Given the description of an element on the screen output the (x, y) to click on. 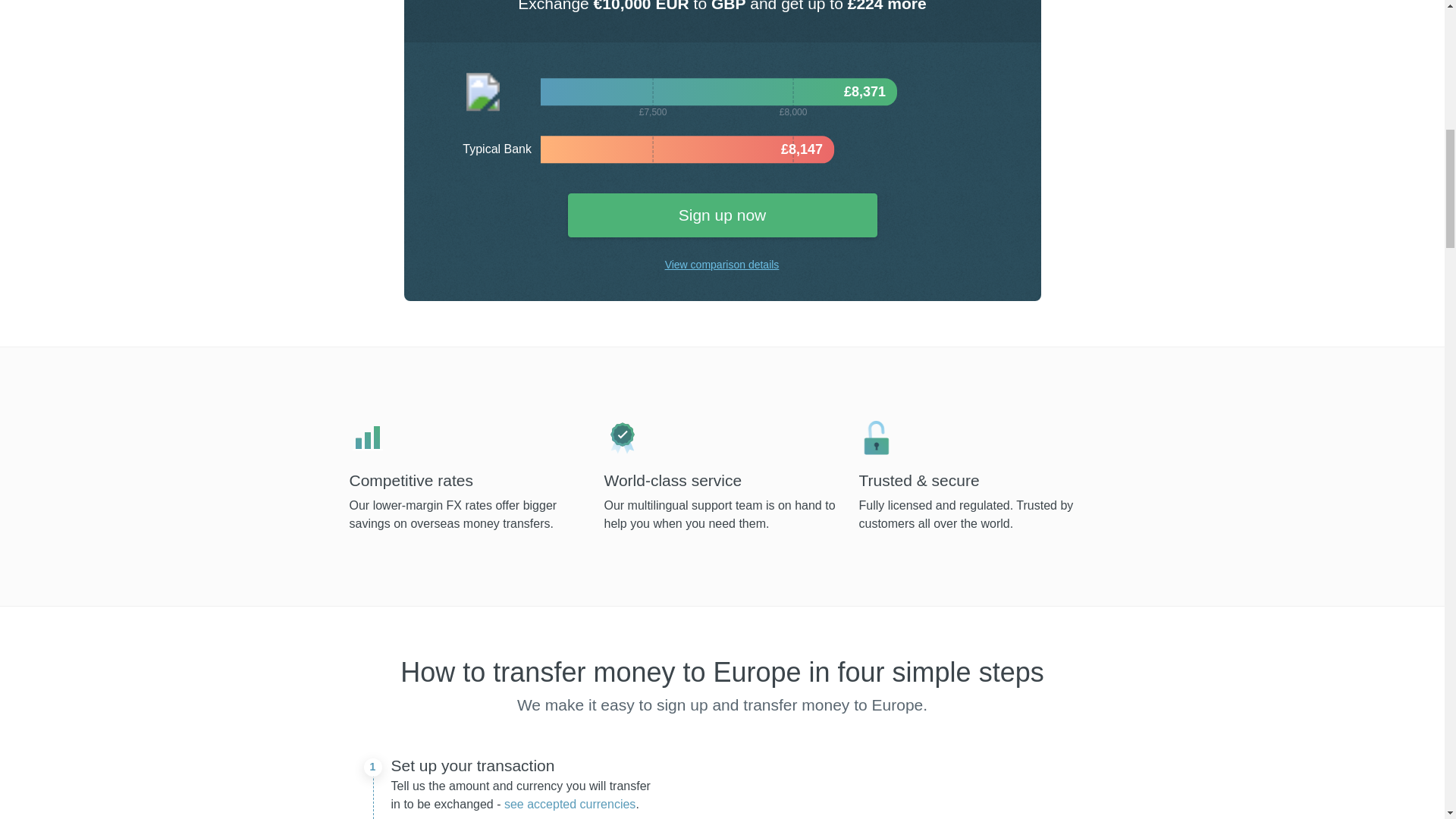
Sign up now (721, 215)
see accepted currencies (568, 804)
View comparison details (722, 263)
